Given the description of an element on the screen output the (x, y) to click on. 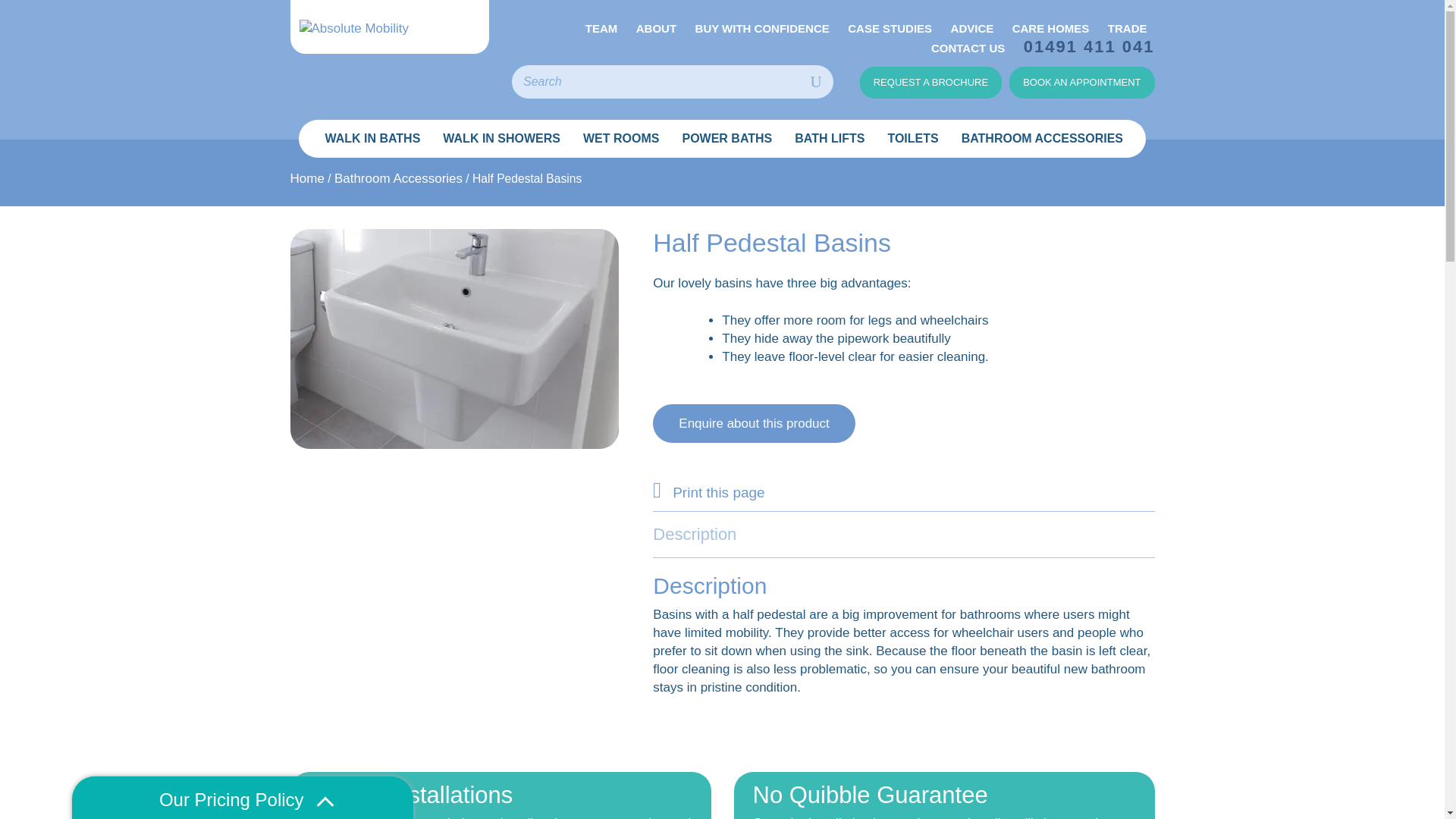
Walk In Baths (370, 138)
Bath Lifts (829, 138)
01491 411 041 (1088, 46)
half-pedestal-basin (453, 338)
BATH LIFTS (829, 138)
Wet Rooms (620, 138)
TEAM (601, 28)
Bathroom Accessories (1042, 138)
Search (815, 81)
ADVICE (972, 28)
